Given the description of an element on the screen output the (x, y) to click on. 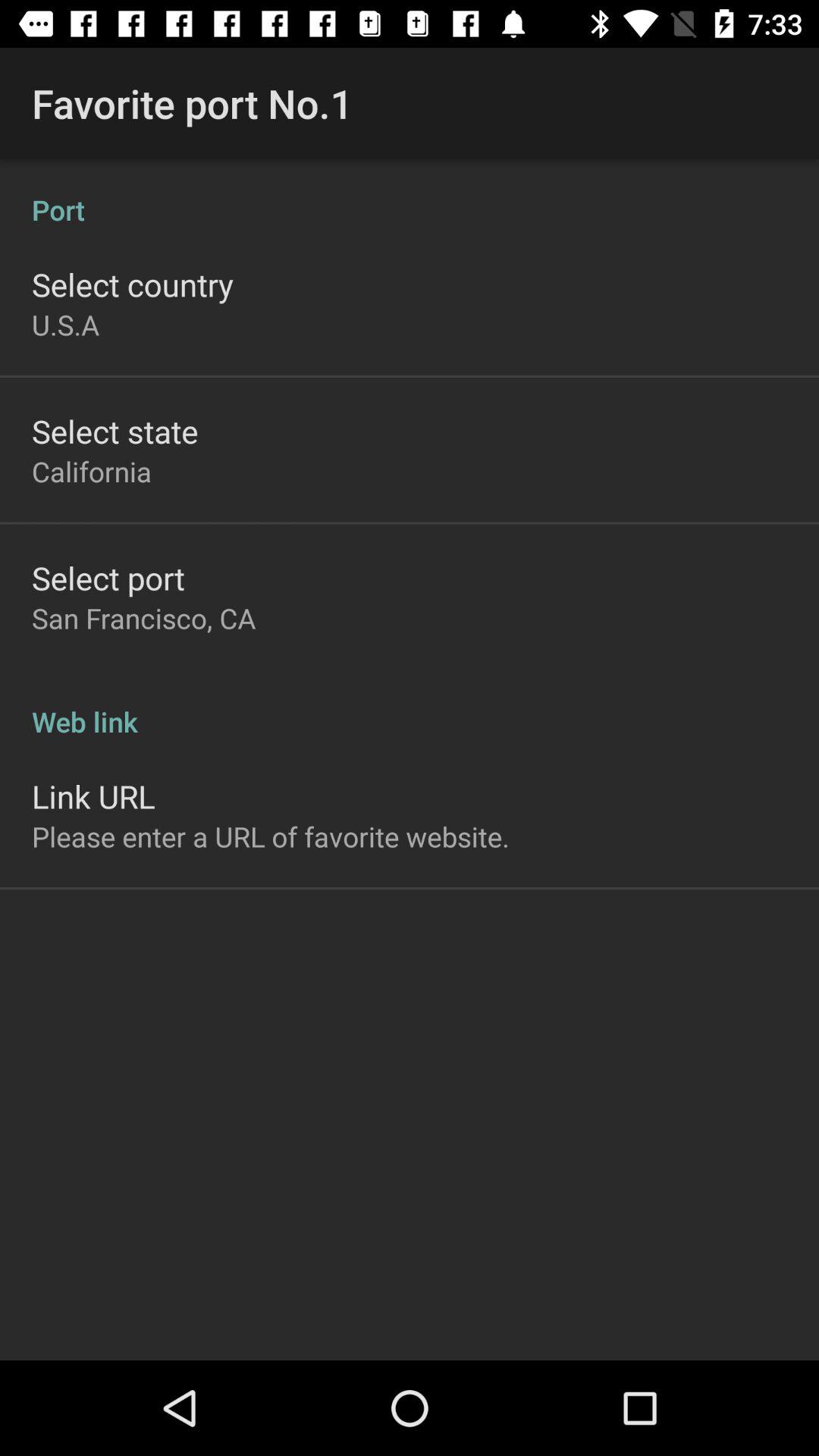
scroll until select country app (132, 283)
